Given the description of an element on the screen output the (x, y) to click on. 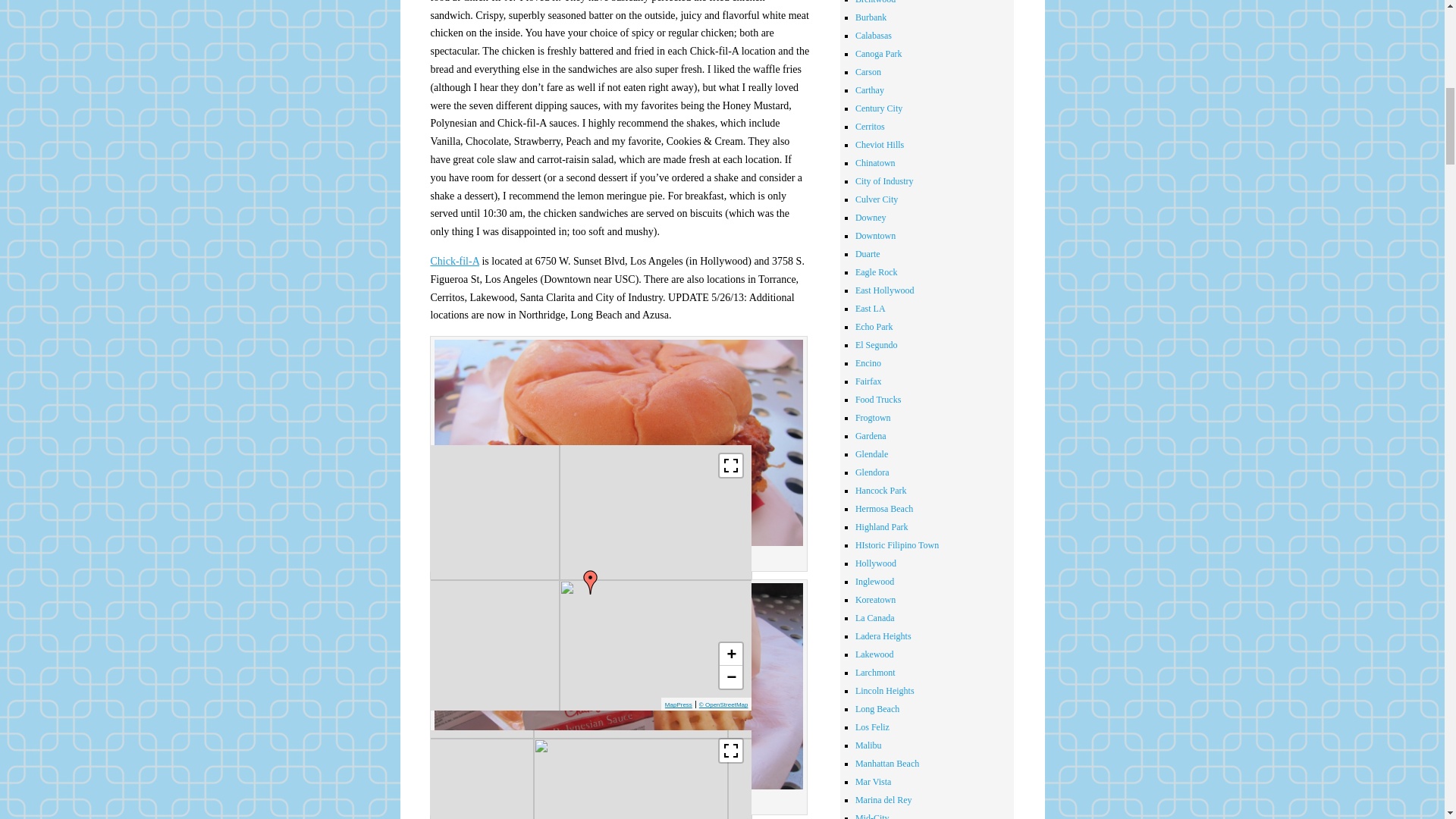
MapPress (679, 704)
Chick-fil-A (454, 260)
Toggle fullscreen view (730, 465)
Toggle fullscreen view (730, 750)
Chick-fil-A (454, 260)
